Given the description of an element on the screen output the (x, y) to click on. 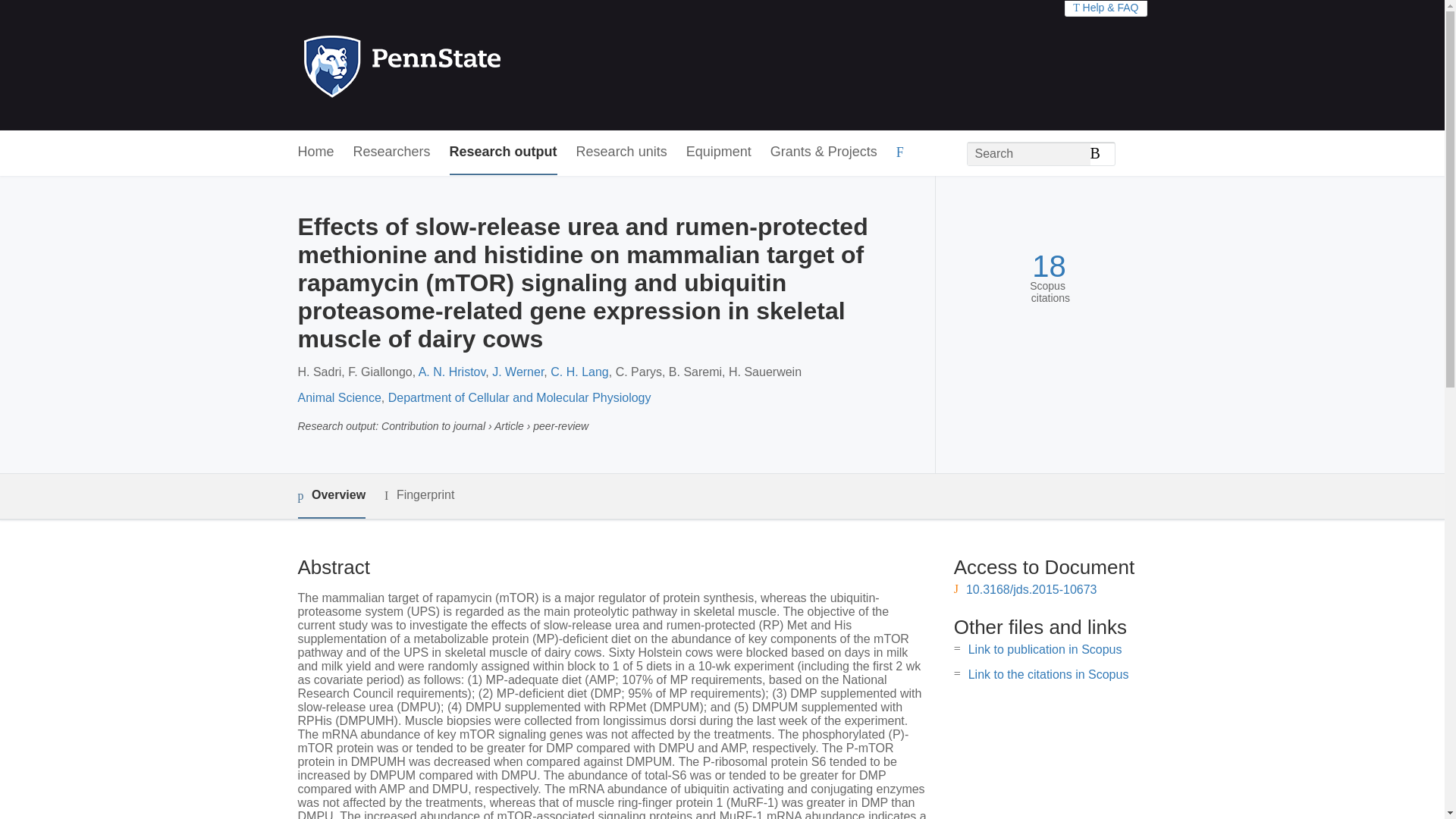
Animal Science (338, 397)
Penn State Home (467, 65)
C. H. Lang (579, 371)
Fingerprint (419, 495)
Overview (331, 496)
Research units (621, 152)
J. Werner (517, 371)
A. N. Hristov (452, 371)
Department of Cellular and Molecular Physiology (519, 397)
Link to publication in Scopus (1045, 649)
Link to the citations in Scopus (1048, 674)
Researchers (391, 152)
18 (1048, 266)
Research output (503, 152)
